Given the description of an element on the screen output the (x, y) to click on. 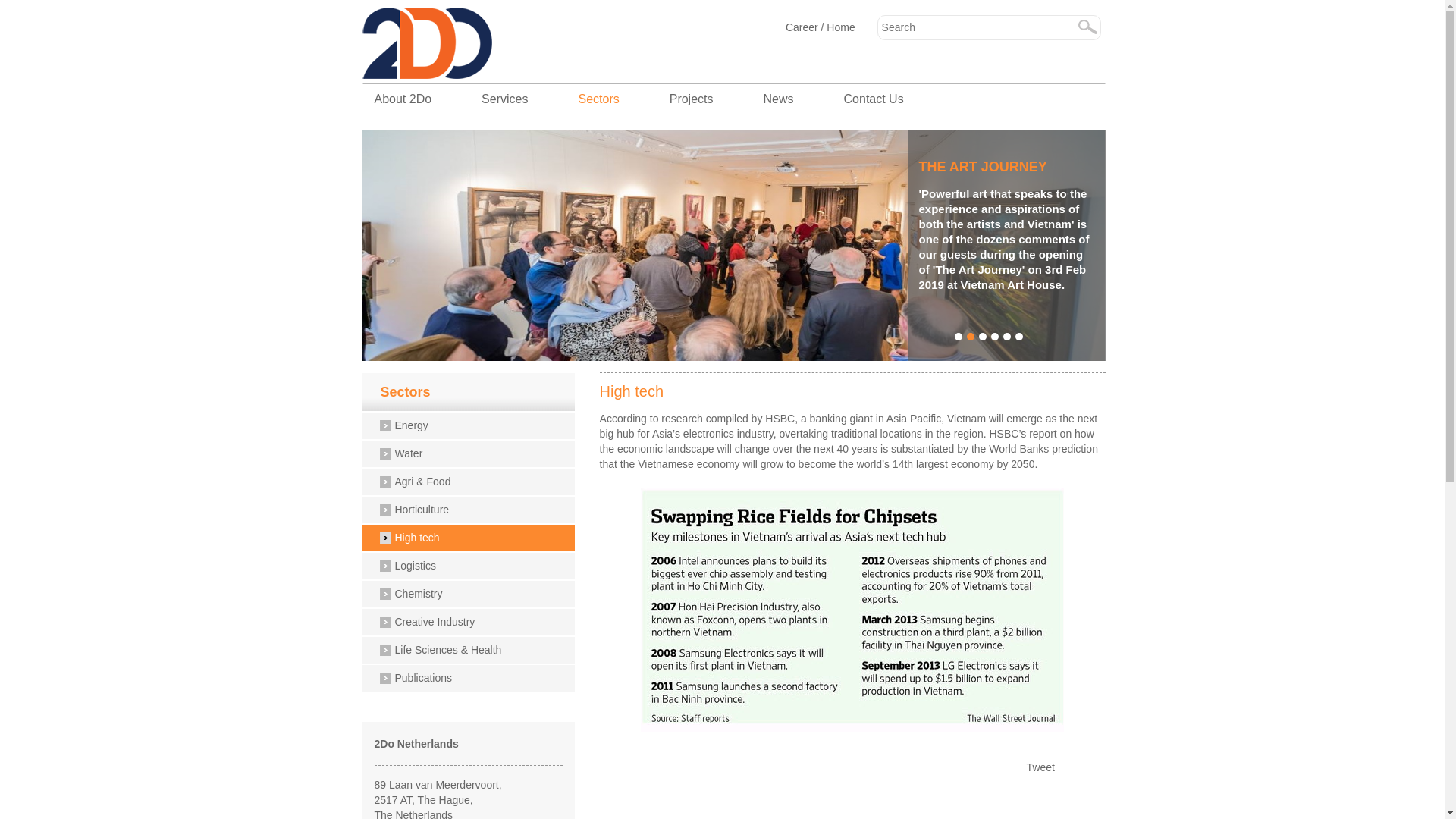
Creative Industry Element type: text (473, 623)
Search Element type: text (1086, 26)
Horticulture Element type: text (473, 511)
Logistics Element type: text (473, 567)
site Element type: text (445, 45)
Contact Us Element type: text (873, 99)
Home Element type: text (840, 27)
Career Element type: text (803, 27)
Sectors Element type: text (597, 99)
Chemistry Element type: text (473, 595)
Publications Element type: text (473, 680)
Water Element type: text (473, 455)
High tech Element type: text (473, 539)
THE ART JOURNEY Element type: text (1058, 166)
Energy Element type: text (473, 427)
Agri & Food Element type: text (473, 483)
Services Element type: text (504, 99)
Sectors Element type: text (477, 392)
News Element type: text (778, 99)
About 2Do Element type: text (415, 99)
Tweet Element type: text (1040, 767)
Life Sciences & Health Element type: text (473, 652)
Projects Element type: text (691, 99)
